Given the description of an element on the screen output the (x, y) to click on. 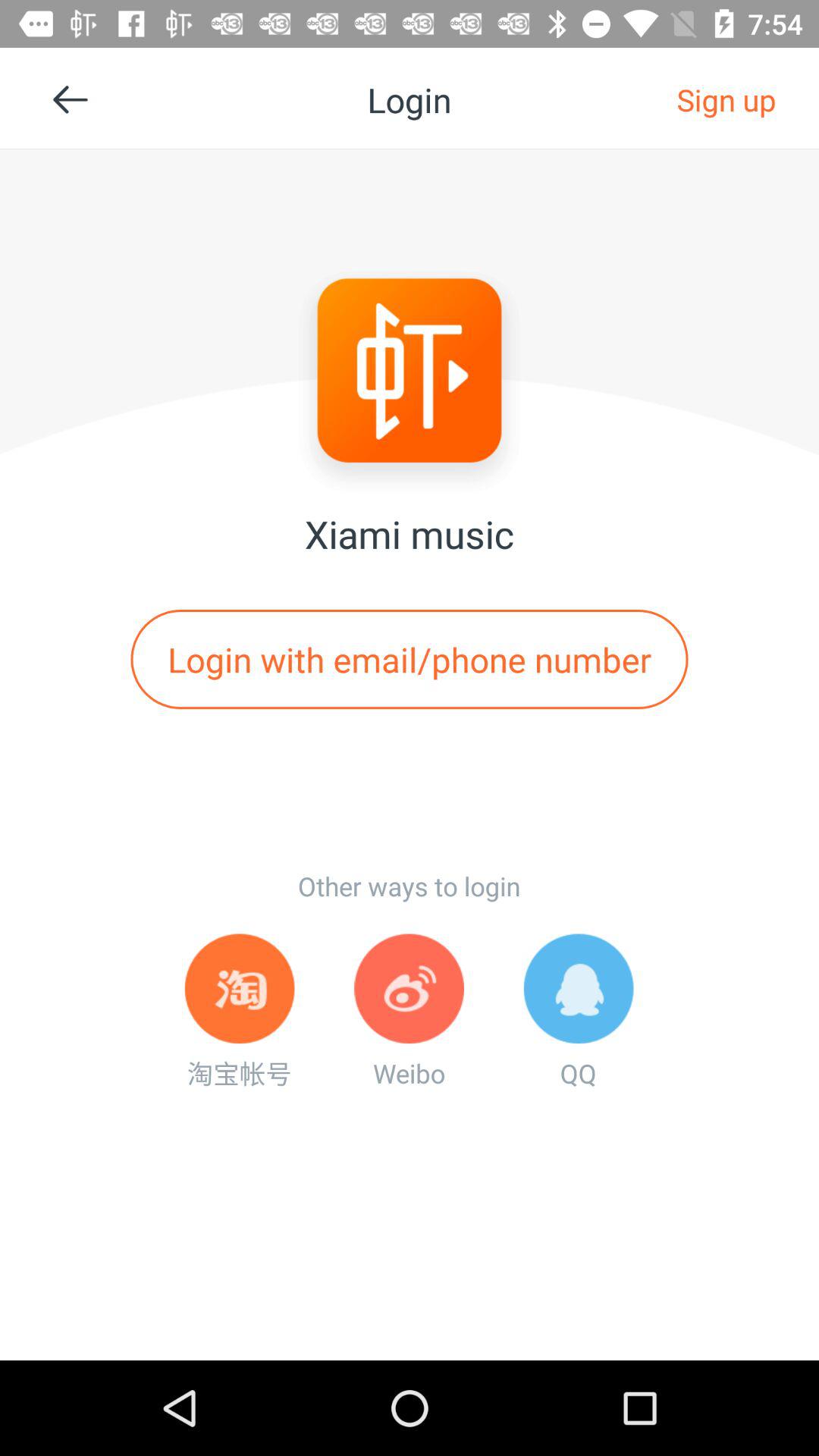
tap the weibo at the bottom (409, 1011)
